Given the description of an element on the screen output the (x, y) to click on. 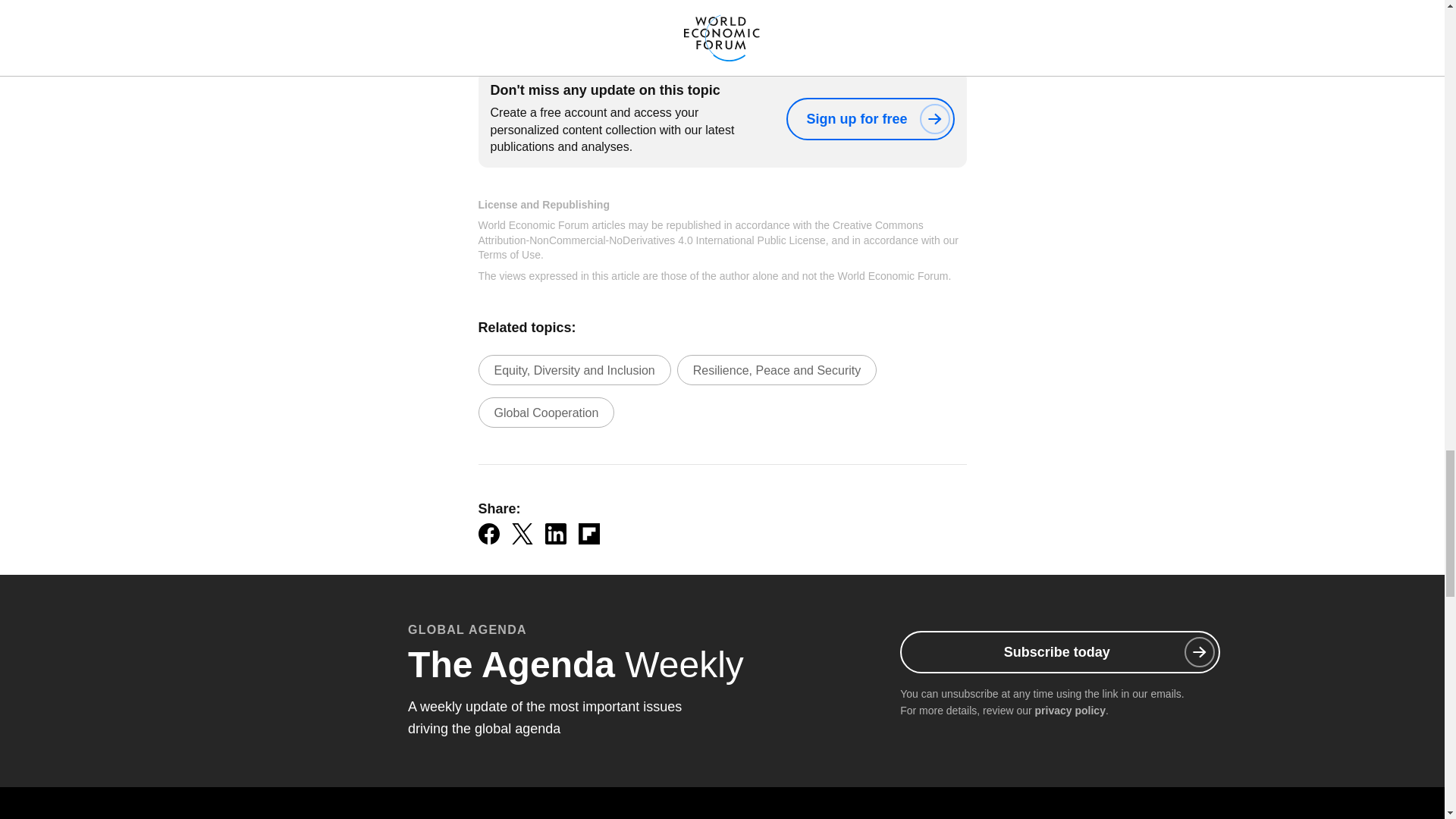
Global Cooperation (545, 412)
privacy policy (1070, 710)
Subscribe today (1059, 651)
Resilience, Peace and Security (776, 369)
Equity, Diversity and Inclusion (573, 369)
Sign up for free (869, 118)
